Given the description of an element on the screen output the (x, y) to click on. 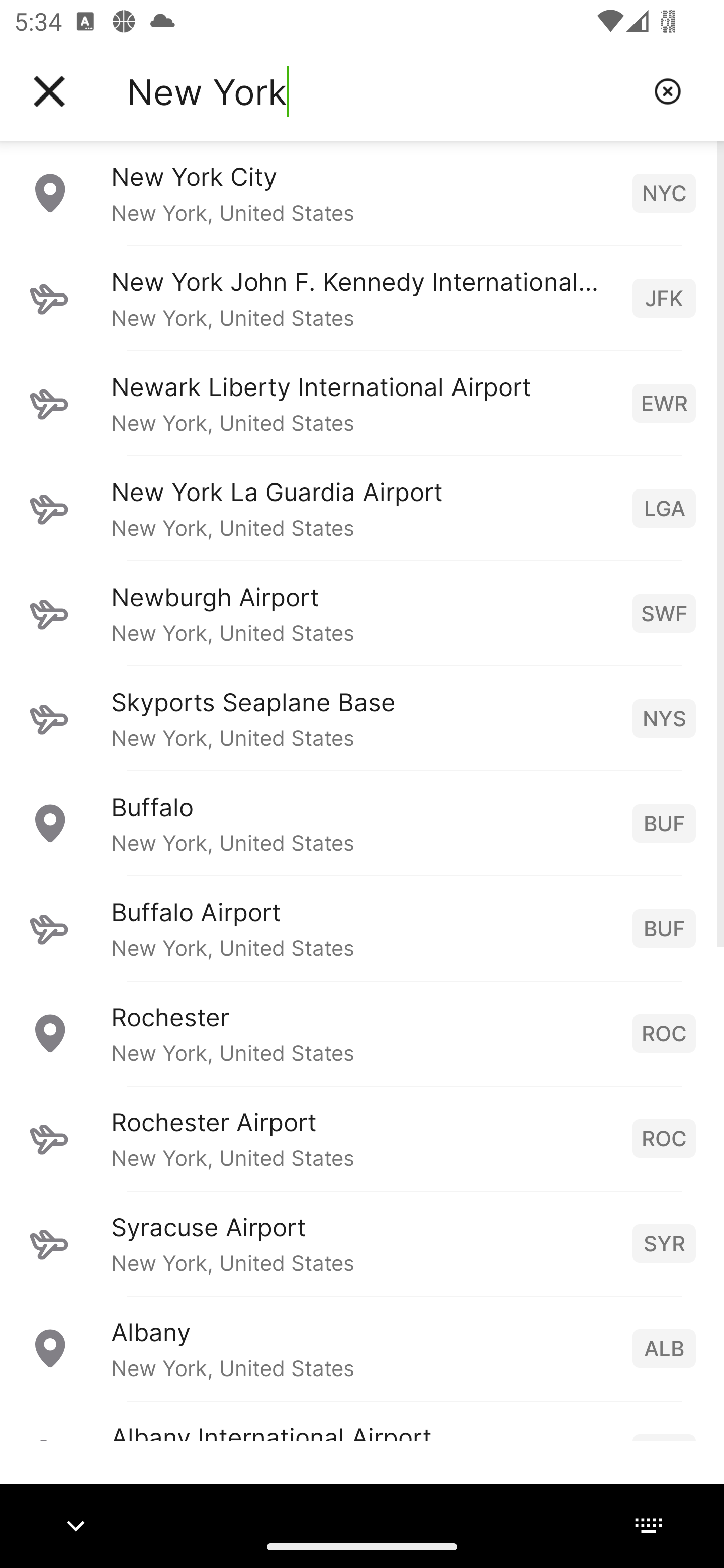
New York (382, 91)
New York City New York, United States NYC (362, 192)
Newburgh Airport New York, United States SWF (362, 612)
Skyports Seaplane Base New York, United States NYS (362, 717)
Buffalo New York, United States BUF (362, 822)
Buffalo Airport New York, United States BUF (362, 928)
Rochester New York, United States ROC (362, 1033)
Rochester Airport New York, United States ROC (362, 1138)
Syracuse Airport New York, United States SYR (362, 1243)
Albany New York, United States ALB (362, 1348)
